Given the description of an element on the screen output the (x, y) to click on. 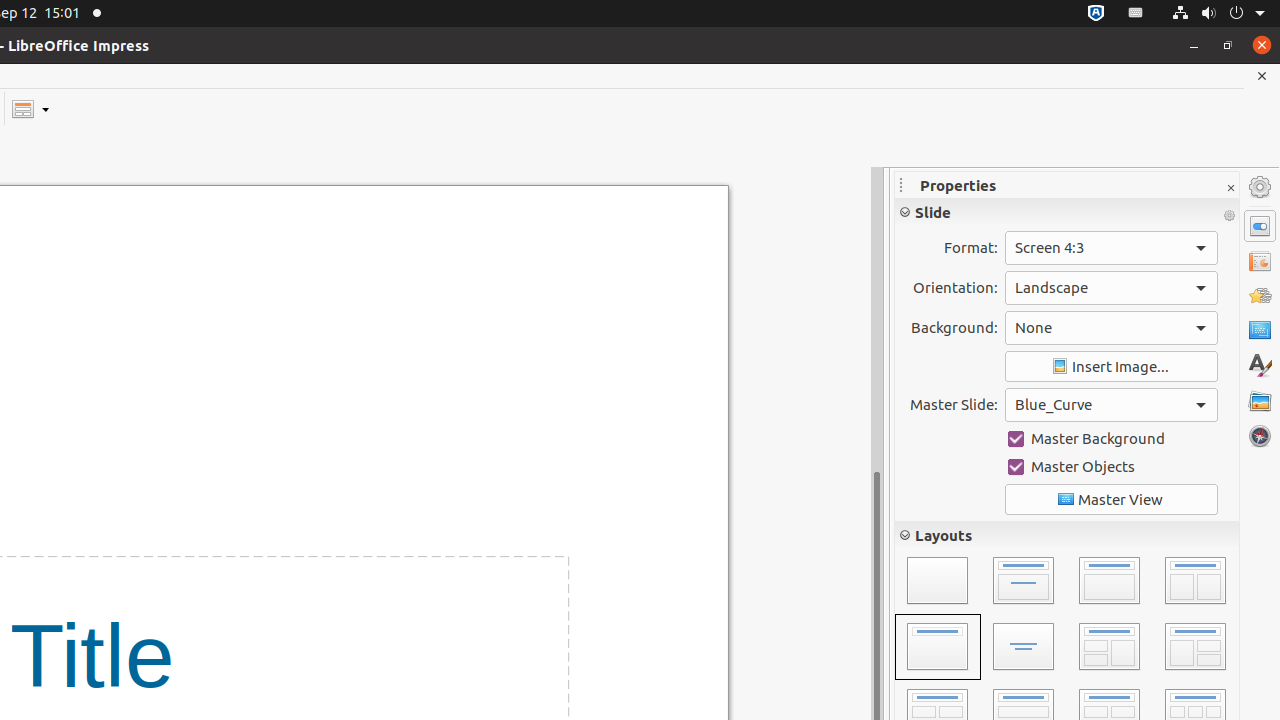
Styles Element type: radio-button (1260, 366)
Justified Element type: push-button (988, 412)
Move Up Element type: push-button (1220, 680)
Properties Element type: radio-button (1260, 226)
System Element type: menu (1218, 13)
